Given the description of an element on the screen output the (x, y) to click on. 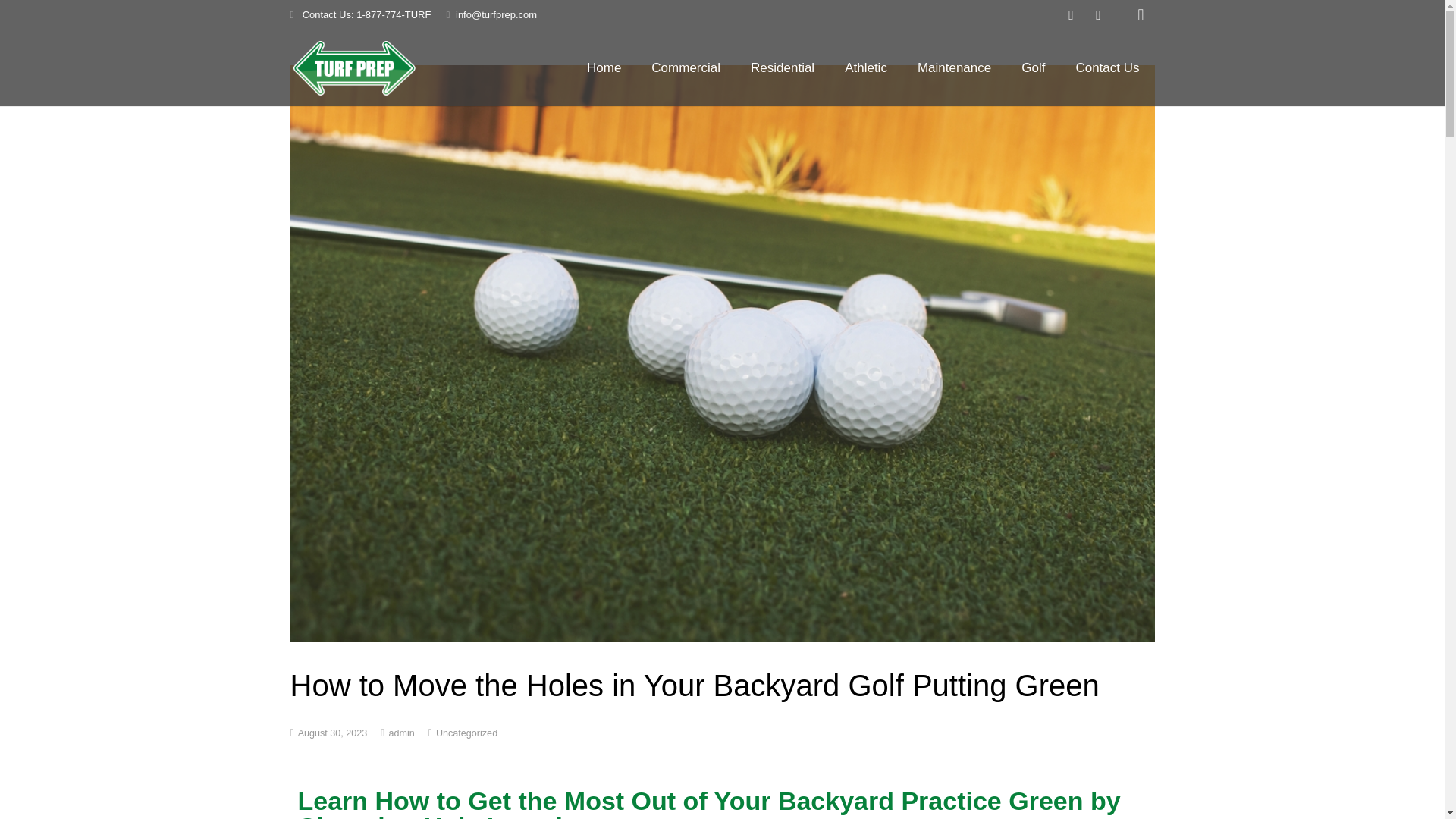
Athletic (865, 67)
Home (604, 67)
Golf (1032, 67)
Contact Us: 1-877-774-TURF (364, 14)
Commercial (685, 67)
Contact Us (1106, 67)
Residential (782, 67)
Maintenance (954, 67)
